Given the description of an element on the screen output the (x, y) to click on. 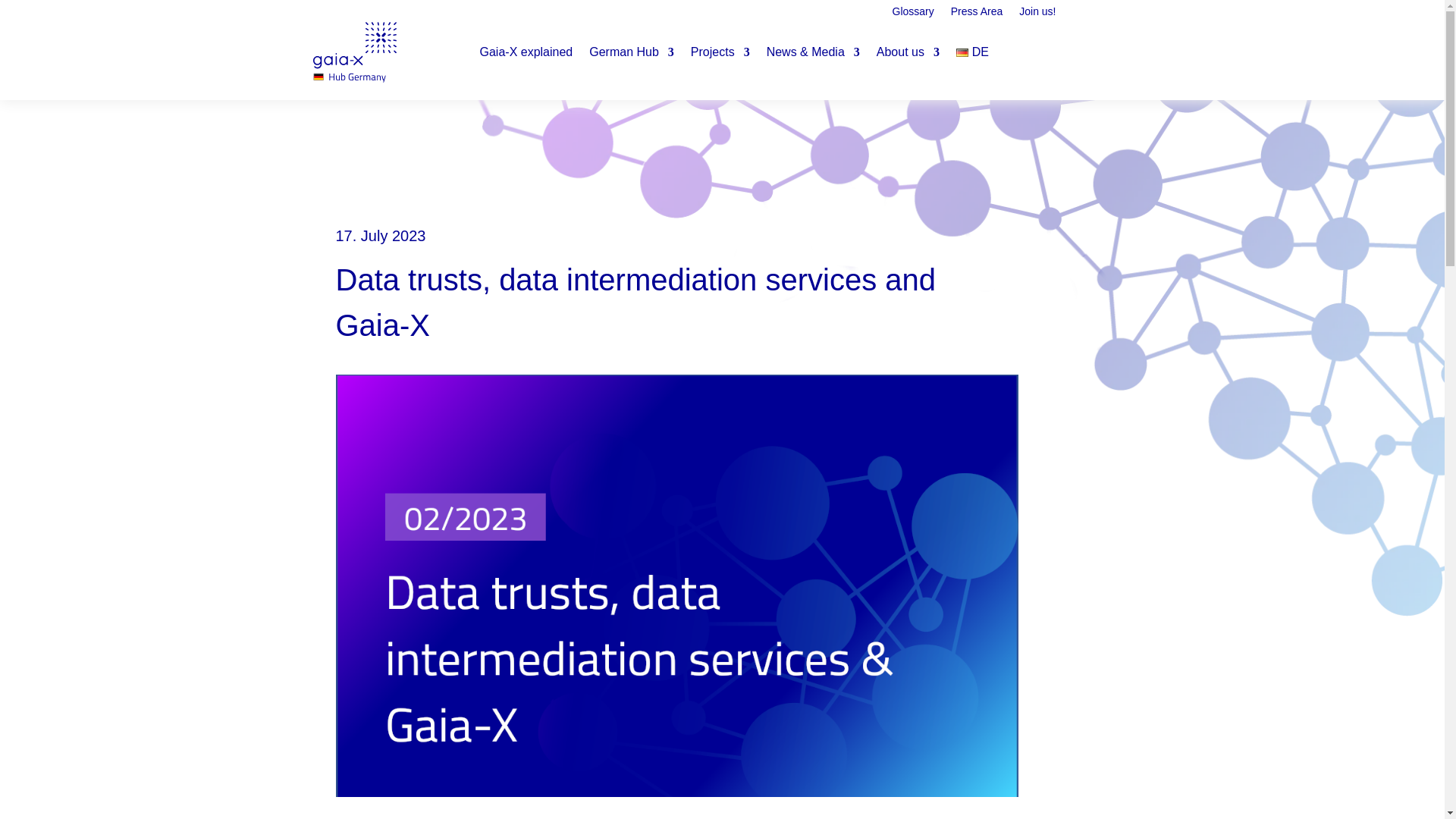
About us (907, 52)
Gaia-X explained (525, 52)
Join us! (1037, 21)
Press Area (976, 21)
Glossary (913, 21)
Projects (719, 52)
DE (972, 52)
German Hub (631, 52)
